Given the description of an element on the screen output the (x, y) to click on. 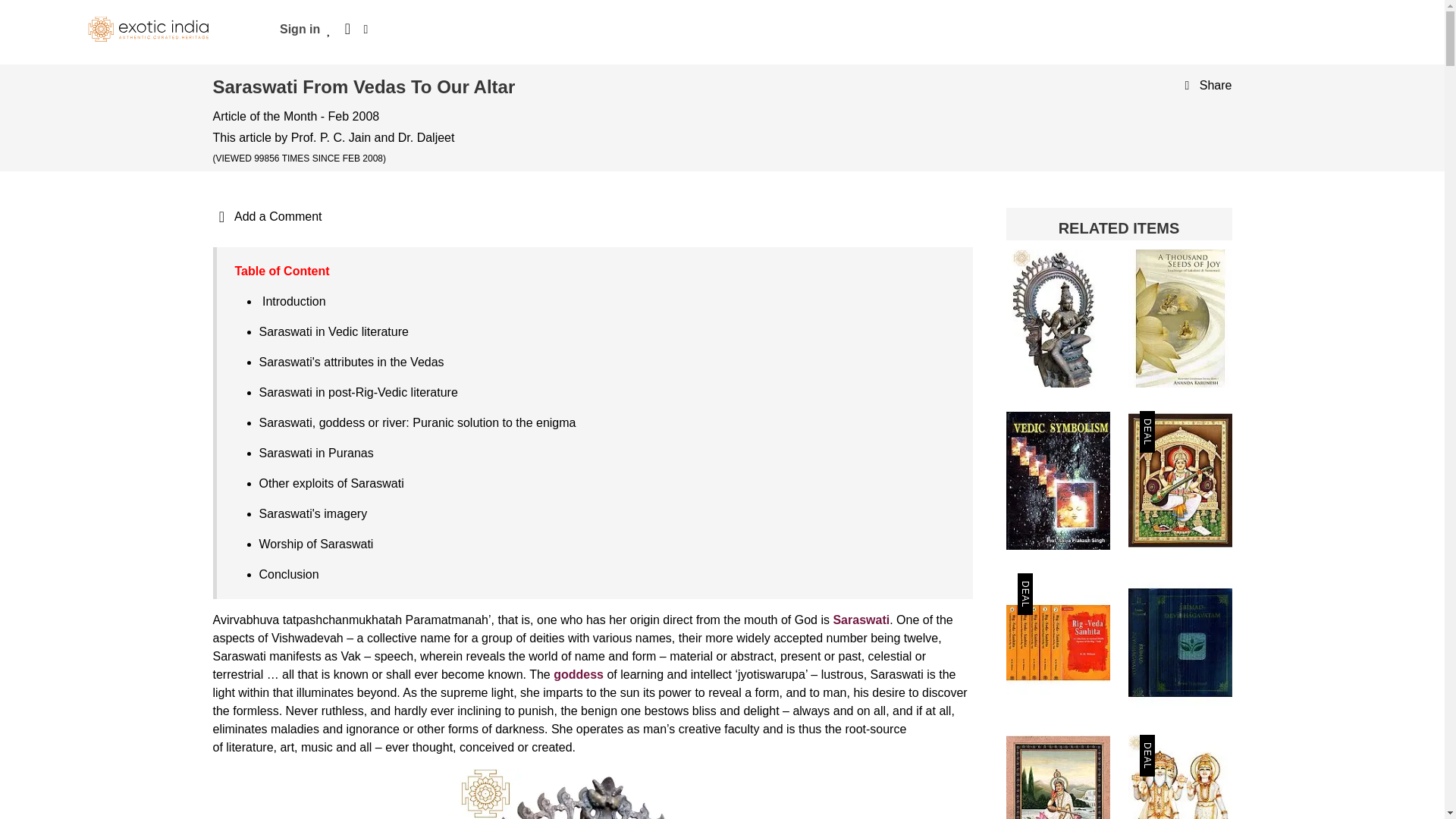
goddess (578, 674)
Share (1204, 84)
Wishlist (328, 29)
Add a Comment (266, 215)
Sign in (299, 29)
Sign in (299, 29)
Share (1204, 84)
Saraswati (860, 619)
Add a Comment (266, 215)
